Given the description of an element on the screen output the (x, y) to click on. 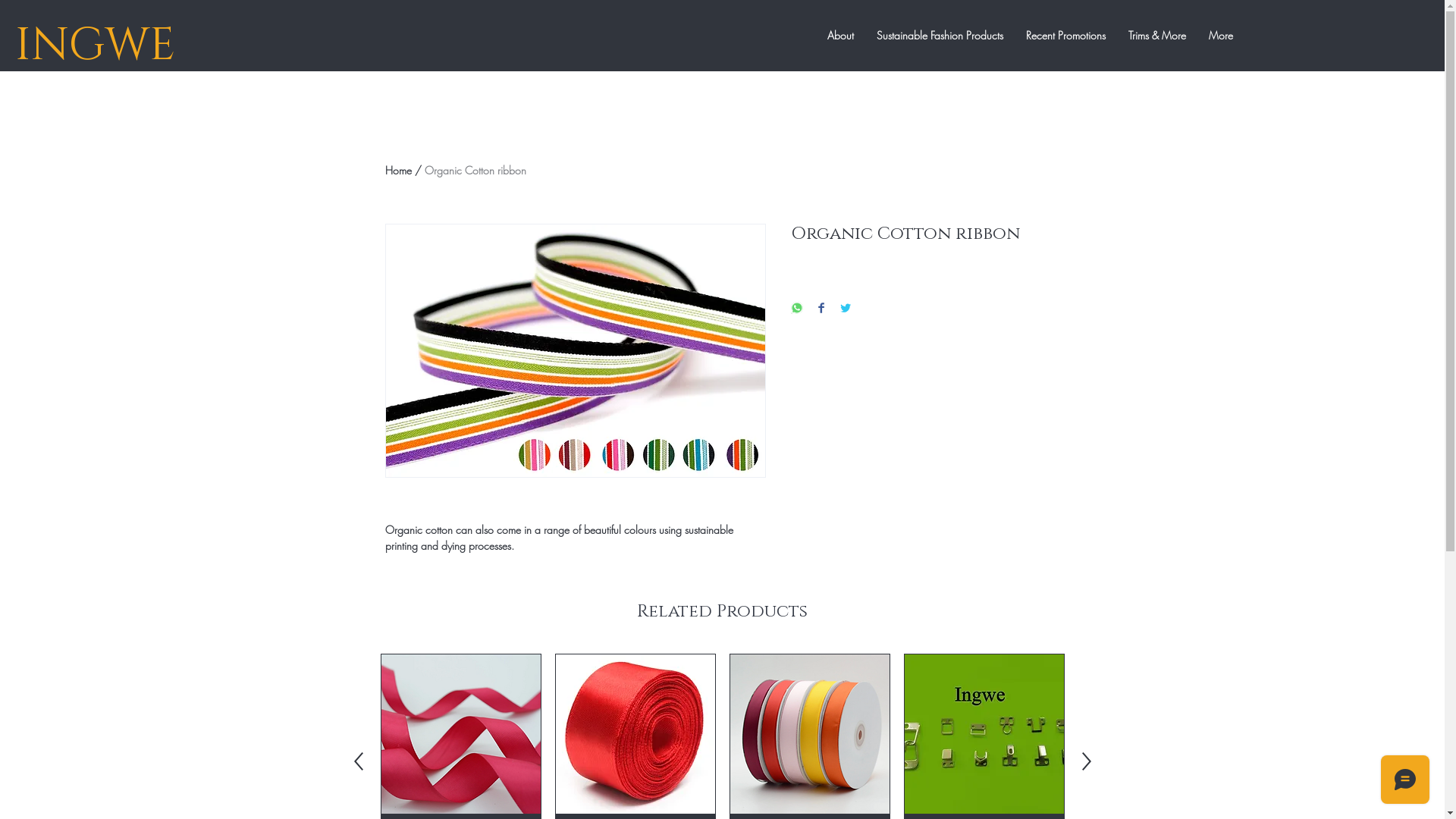
About Element type: text (840, 35)
Sustainable Fashion Products Element type: text (938, 35)
Organic Cotton ribbon Element type: text (475, 170)
INGWE Element type: text (95, 45)
Trims & More Element type: text (1156, 35)
Home Element type: text (398, 170)
Recent Promotions Element type: text (1065, 35)
